Given the description of an element on the screen output the (x, y) to click on. 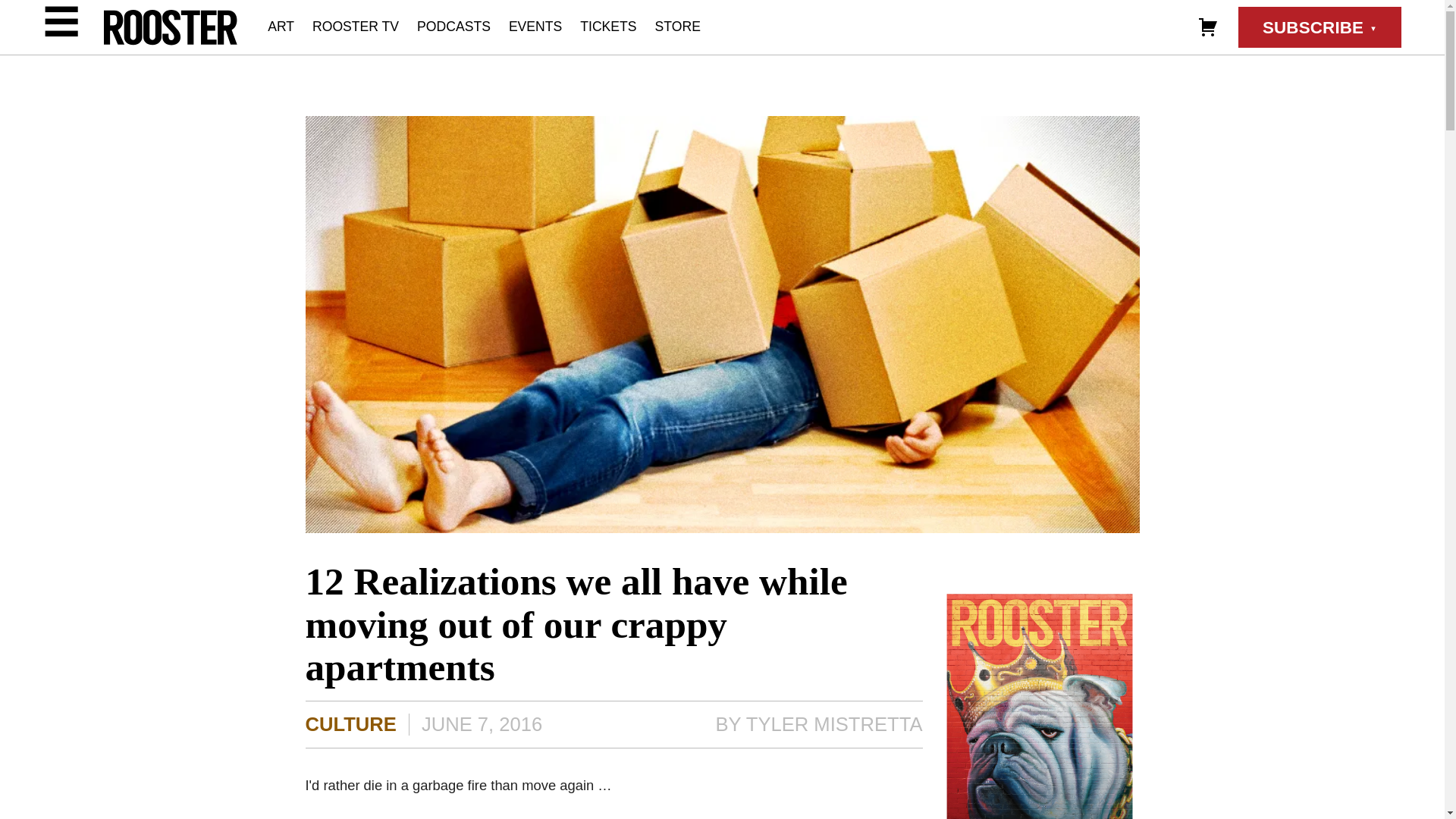
ROOSTER TV (355, 26)
PODCASTS (453, 26)
EVENTS (535, 26)
SUBSCRIBE (1319, 27)
CART (1207, 26)
ART (280, 26)
TICKETS (607, 26)
STORE (677, 26)
